Given the description of an element on the screen output the (x, y) to click on. 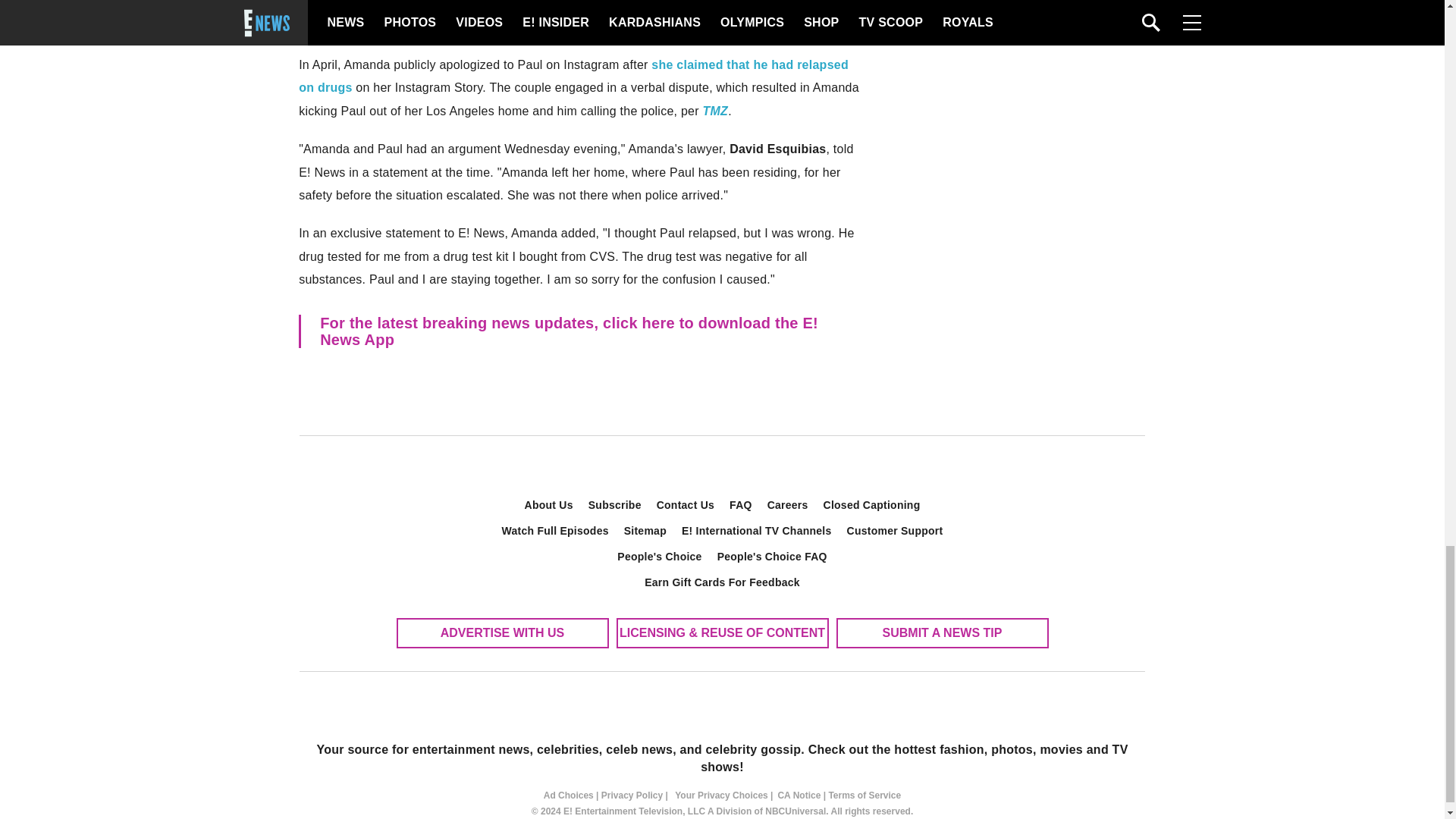
TMZ (714, 110)
she claimed that he had relapsed on drugs (573, 76)
